Given the description of an element on the screen output the (x, y) to click on. 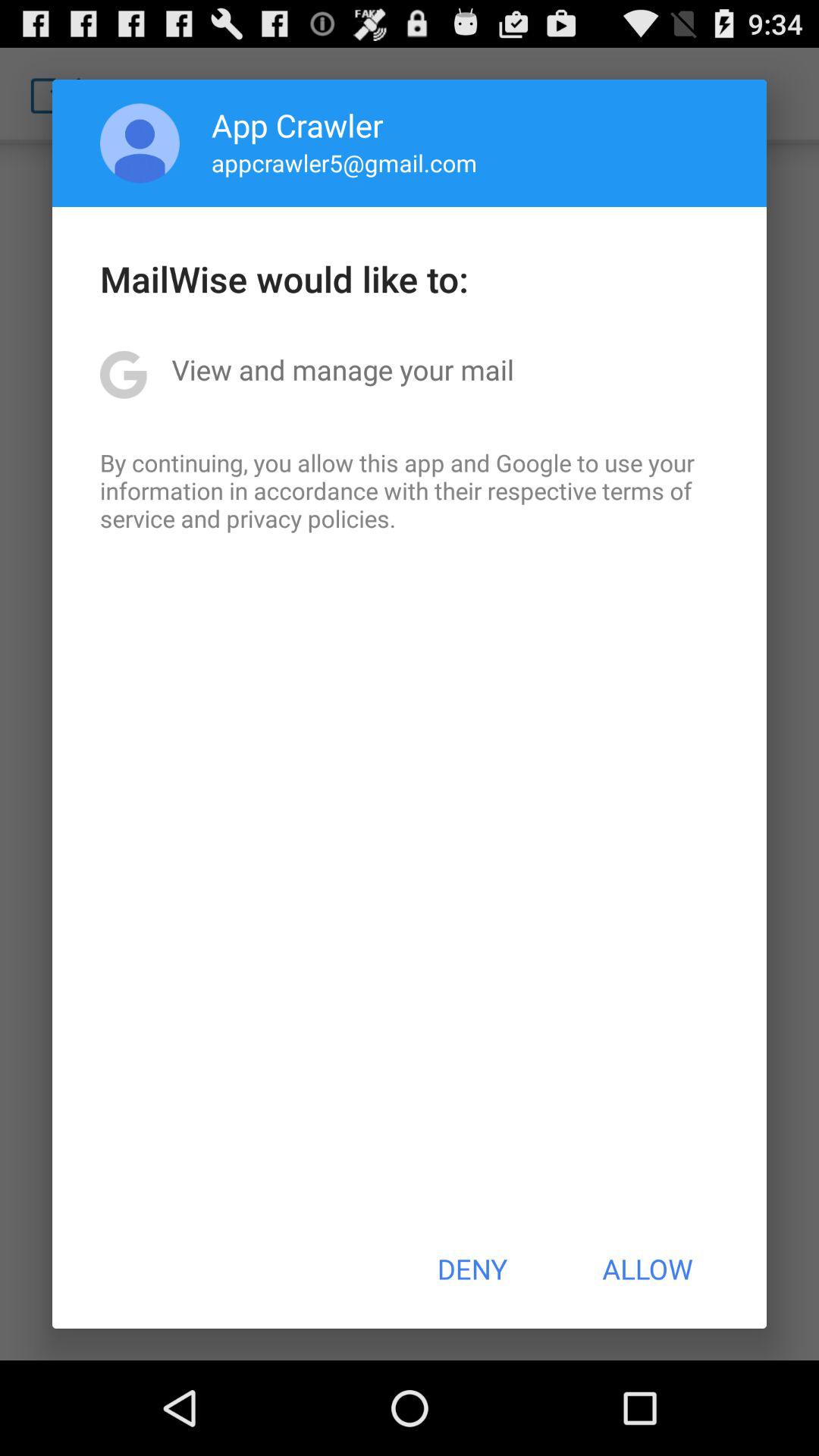
turn off app above mailwise would like item (344, 162)
